Given the description of an element on the screen output the (x, y) to click on. 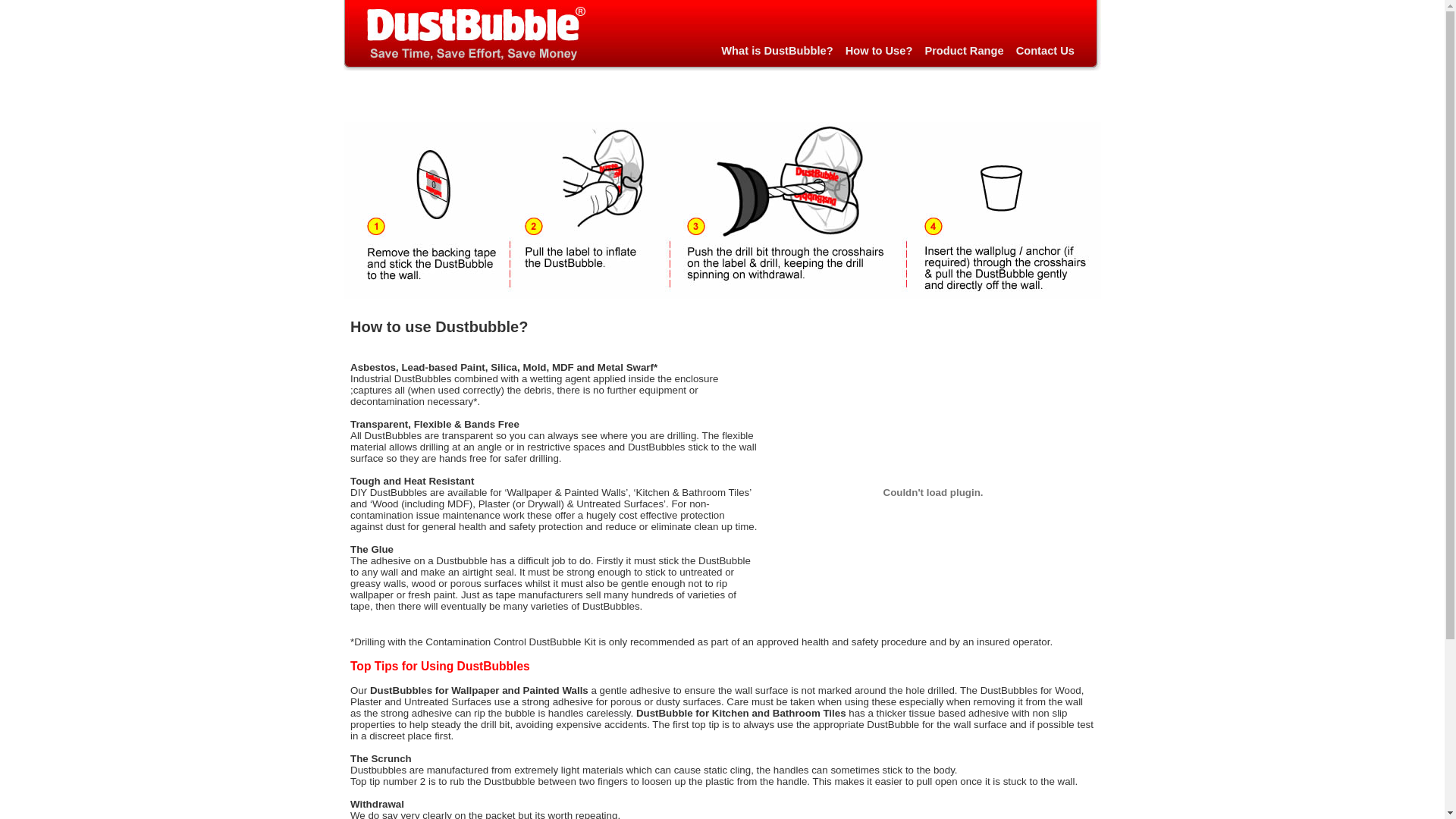
Contact Us Element type: text (1051, 50)
Product Range Element type: text (969, 50)
What is DustBubble? Element type: text (782, 50)
How to Use? Element type: text (885, 50)
